Given the description of an element on the screen output the (x, y) to click on. 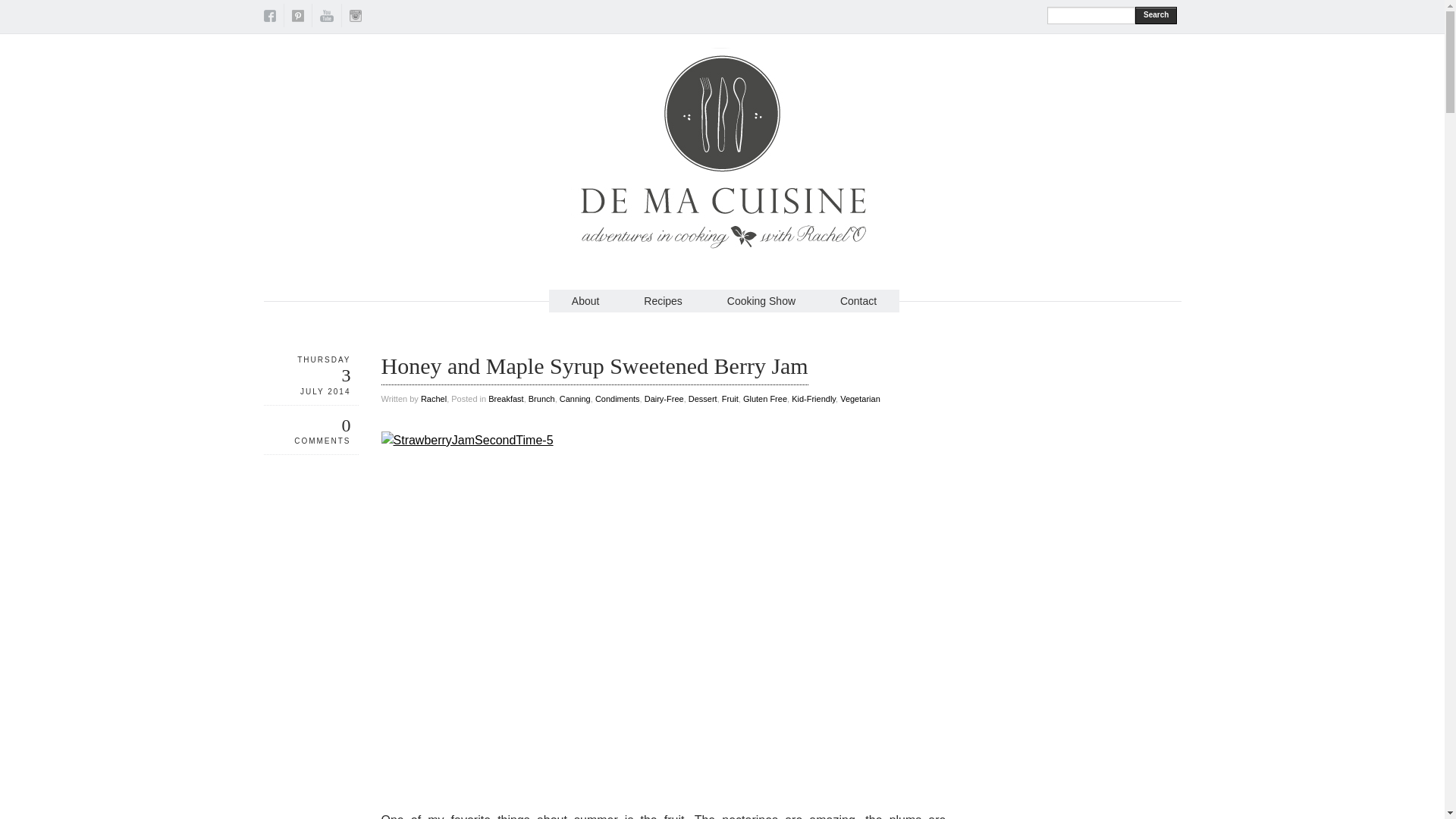
Brunch (541, 398)
Search (1155, 15)
Dessert (702, 398)
youtube (326, 18)
Cooking Show (760, 300)
Posts by Rachel (433, 398)
Canning (575, 398)
Dairy-Free (664, 398)
Contact (858, 300)
Gluten Free (764, 398)
Vegetarian (860, 398)
Breakfast (504, 398)
Fruit (730, 398)
0 (345, 424)
Rachel (433, 398)
